Given the description of an element on the screen output the (x, y) to click on. 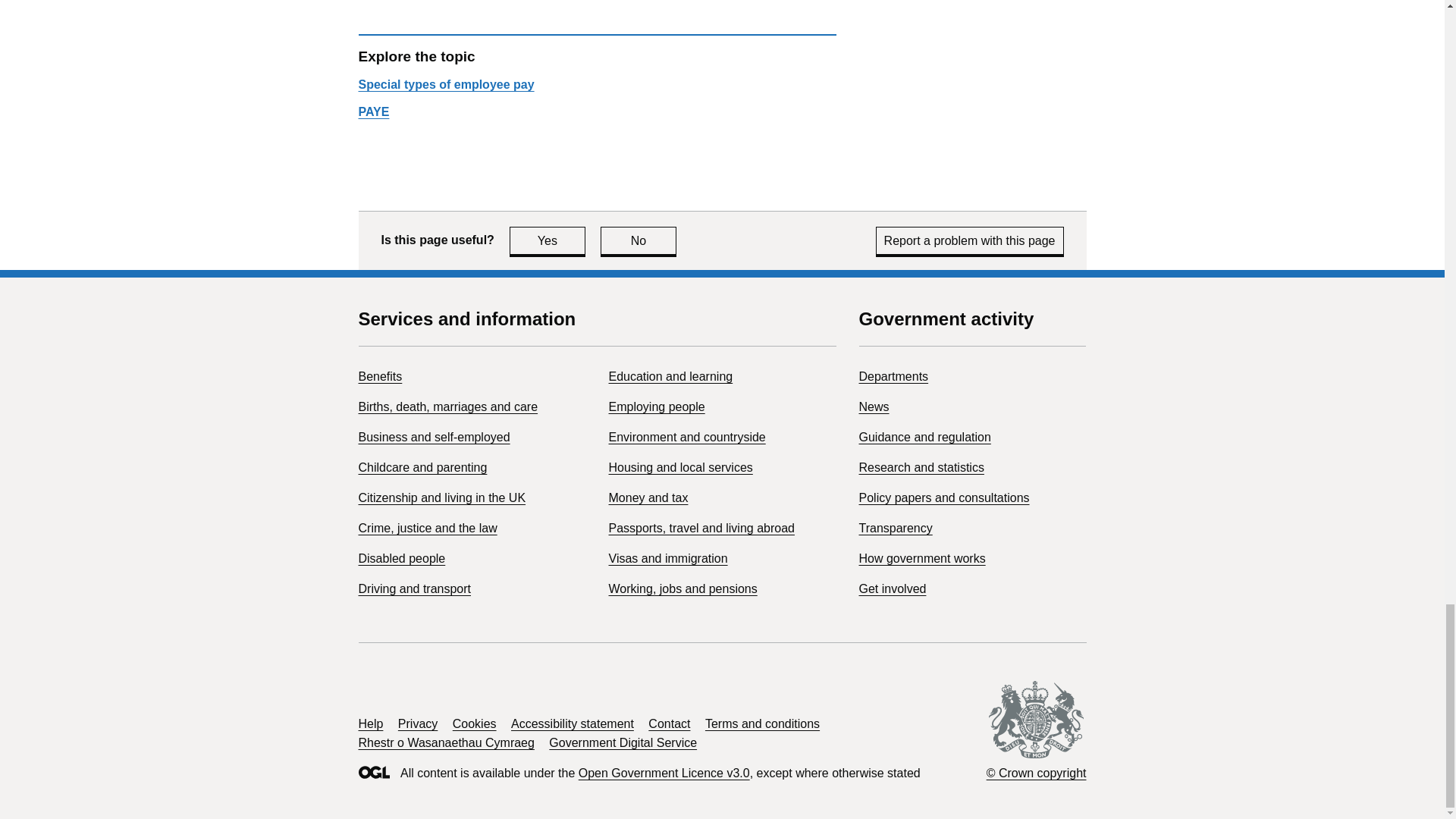
Crime, justice and the law (427, 527)
Benefits (379, 376)
Births, death, marriages and care (447, 406)
Special types of employee pay (446, 83)
Report a problem with this page (970, 240)
Business and self-employed (433, 436)
Citizenship and living in the UK (638, 240)
Childcare and parenting (547, 240)
